Given the description of an element on the screen output the (x, y) to click on. 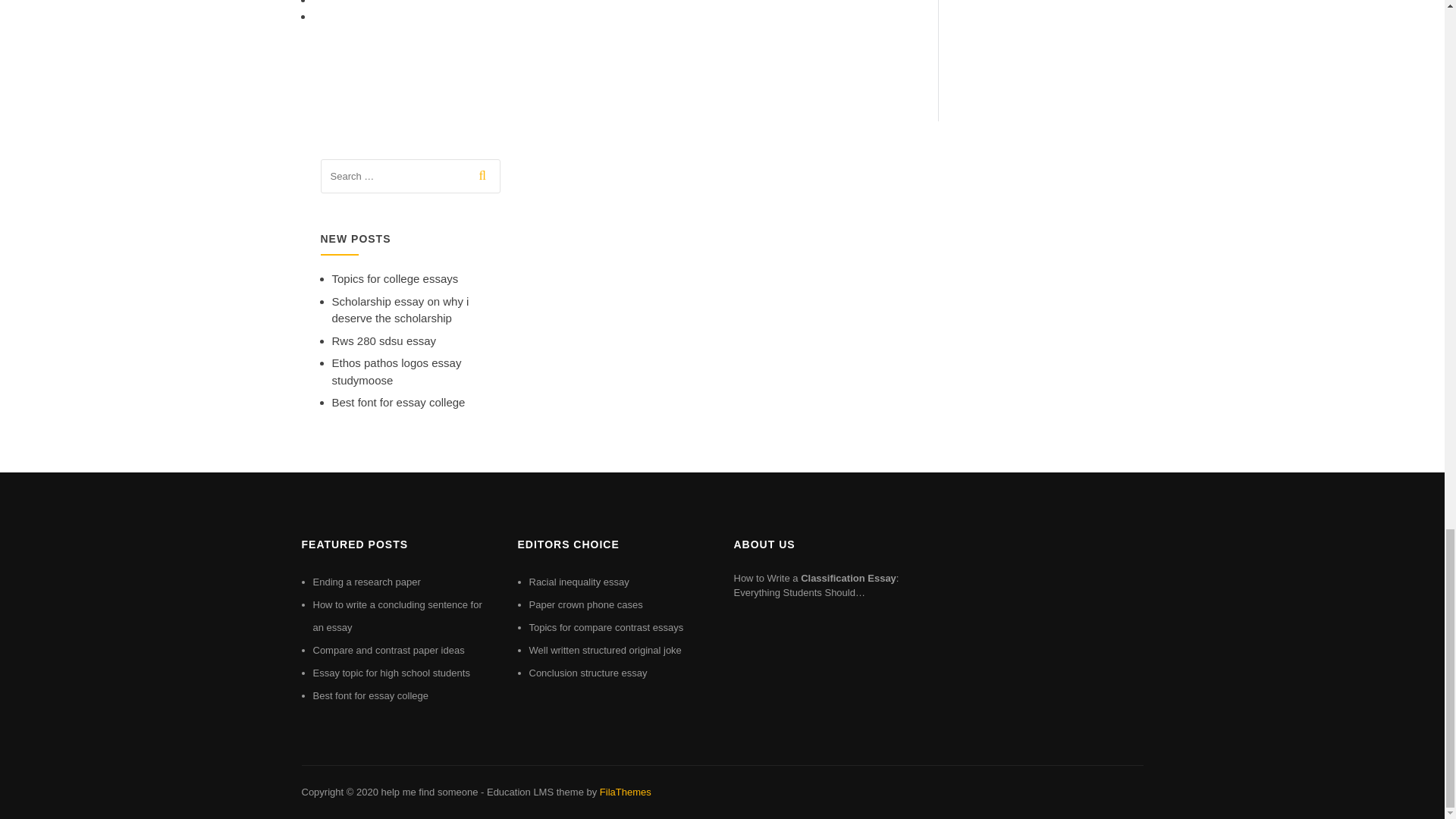
Ending a research paper (366, 582)
Best font for essay college (398, 401)
Paper crown phone cases (586, 604)
Rws 280 sdsu essay (383, 340)
Compare and contrast paper ideas (388, 650)
Conclusion structure essay (588, 672)
help me find someone (428, 791)
Best font for essay college (370, 695)
Essay topic for high school students (390, 672)
help me find someone (428, 791)
Well written structured original joke (605, 650)
Topics for college essays (394, 278)
Topics for compare contrast essays (606, 627)
Scholarship essay on why i deserve the scholarship (399, 309)
Ethos pathos logos essay studymoose (396, 371)
